Given the description of an element on the screen output the (x, y) to click on. 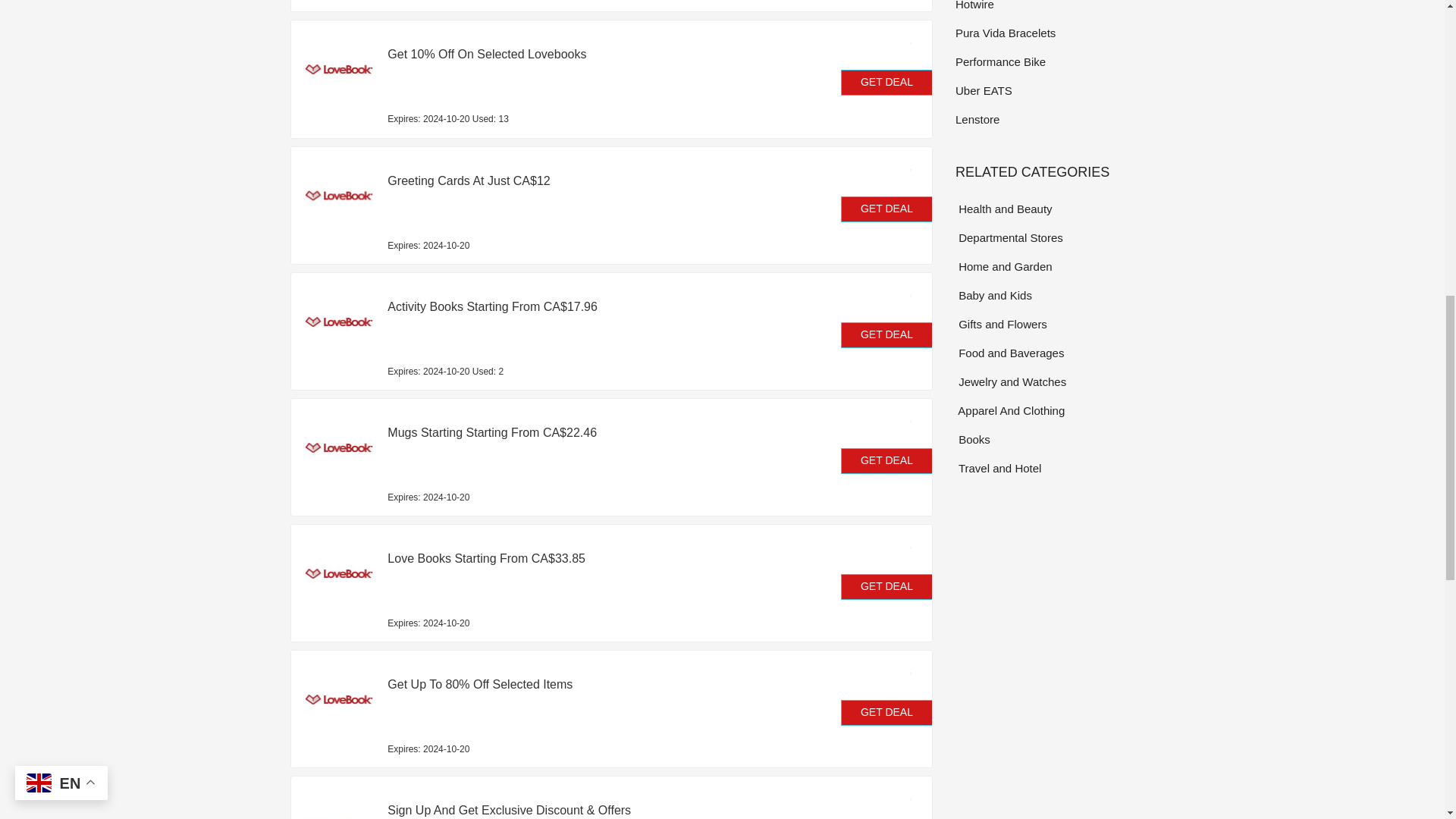
GET DEAL (887, 335)
Hotwire (1054, 6)
Pura Vida Bracelets (1054, 32)
Performance Bike (1054, 61)
GET DEAL (887, 712)
GET DEAL (887, 460)
GET DEAL (887, 208)
GET DEAL (887, 82)
GET DEAL (887, 586)
